Given the description of an element on the screen output the (x, y) to click on. 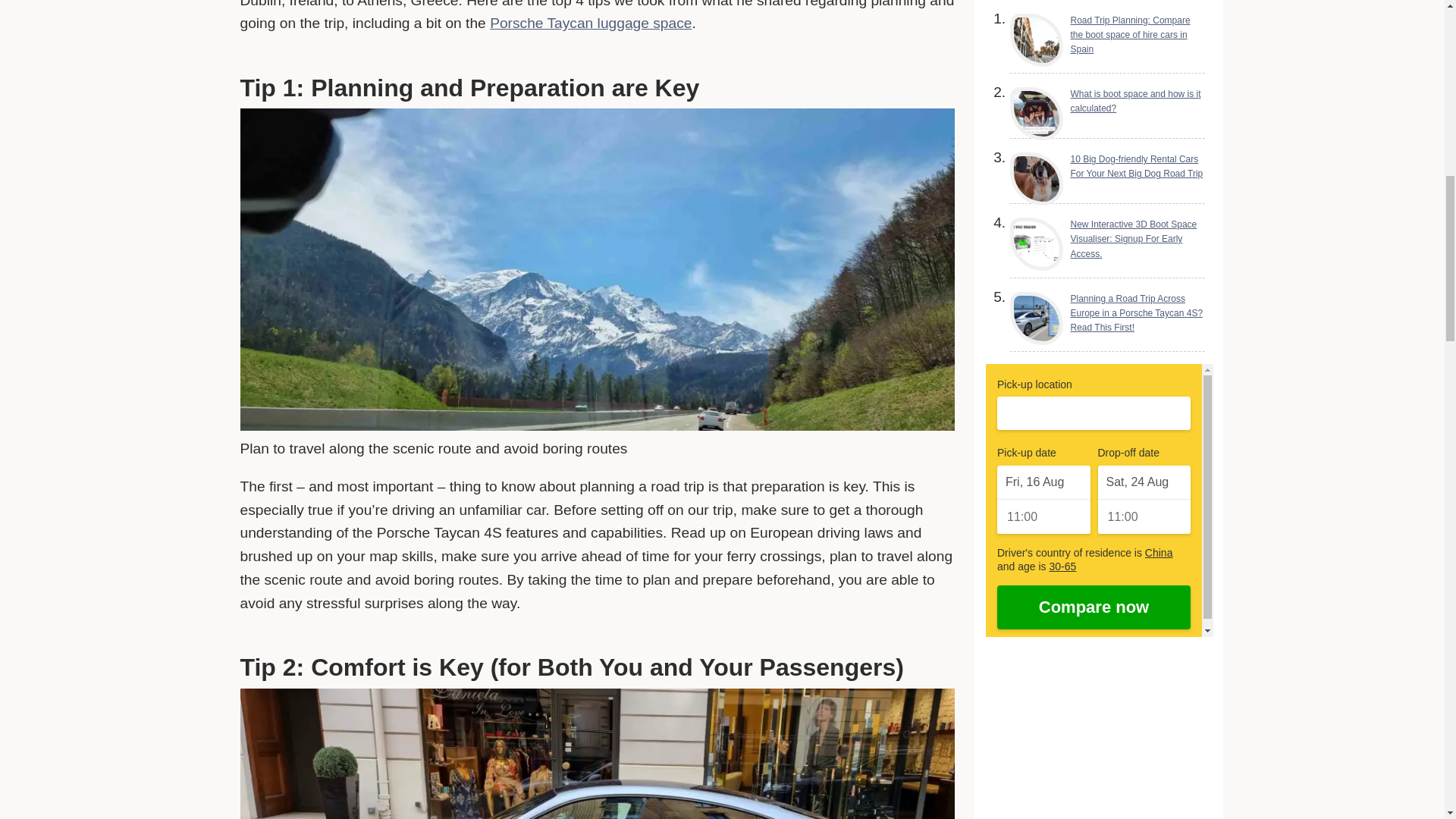
Porsche Taycan luggage space (590, 23)
What is boot space and how is it calculated? (1107, 101)
